Given the description of an element on the screen output the (x, y) to click on. 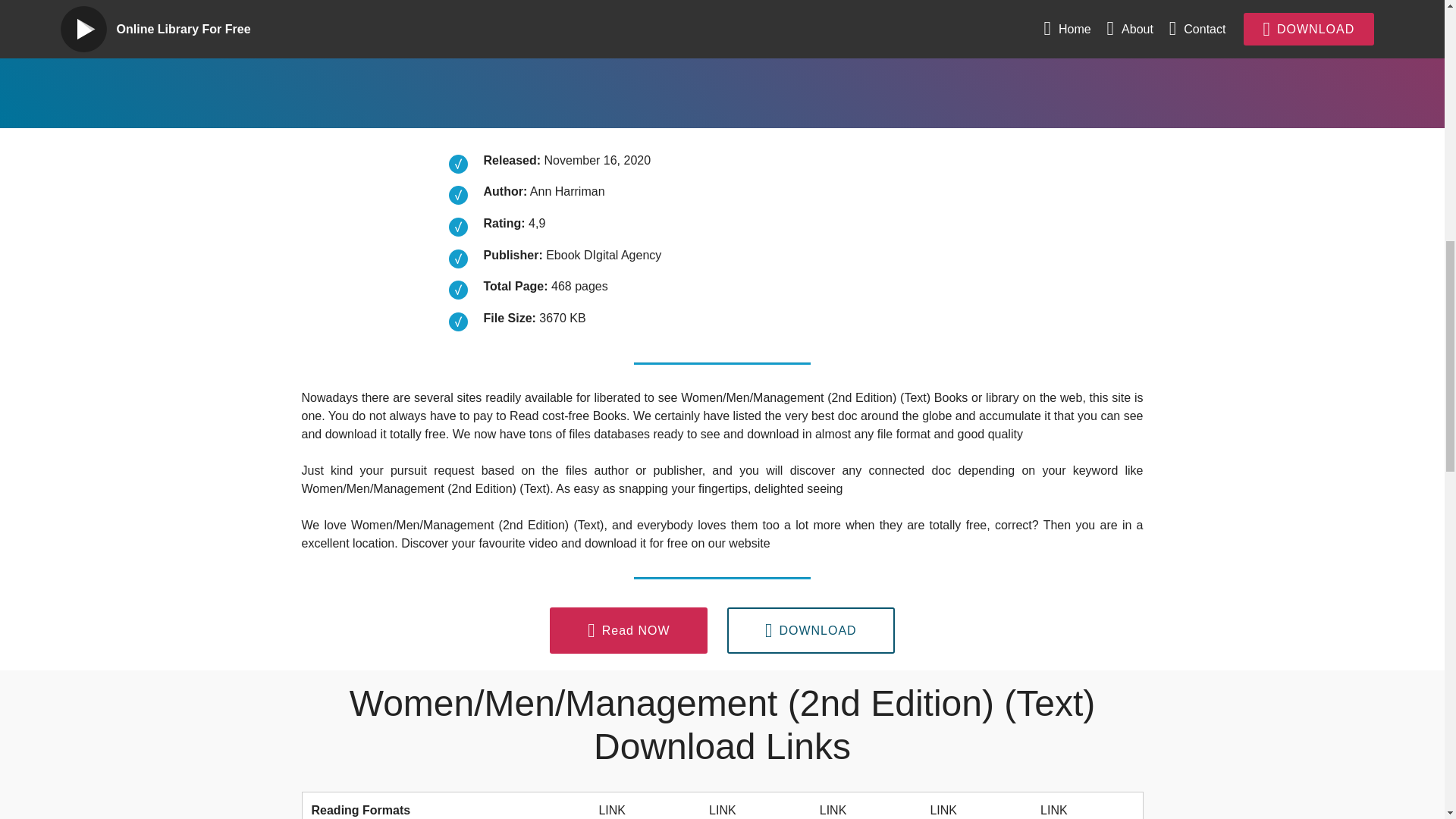
Read NOW (454, 31)
Read NOW (628, 630)
DOWNLOAD (810, 630)
DOWNLOAD (641, 31)
